Given the description of an element on the screen output the (x, y) to click on. 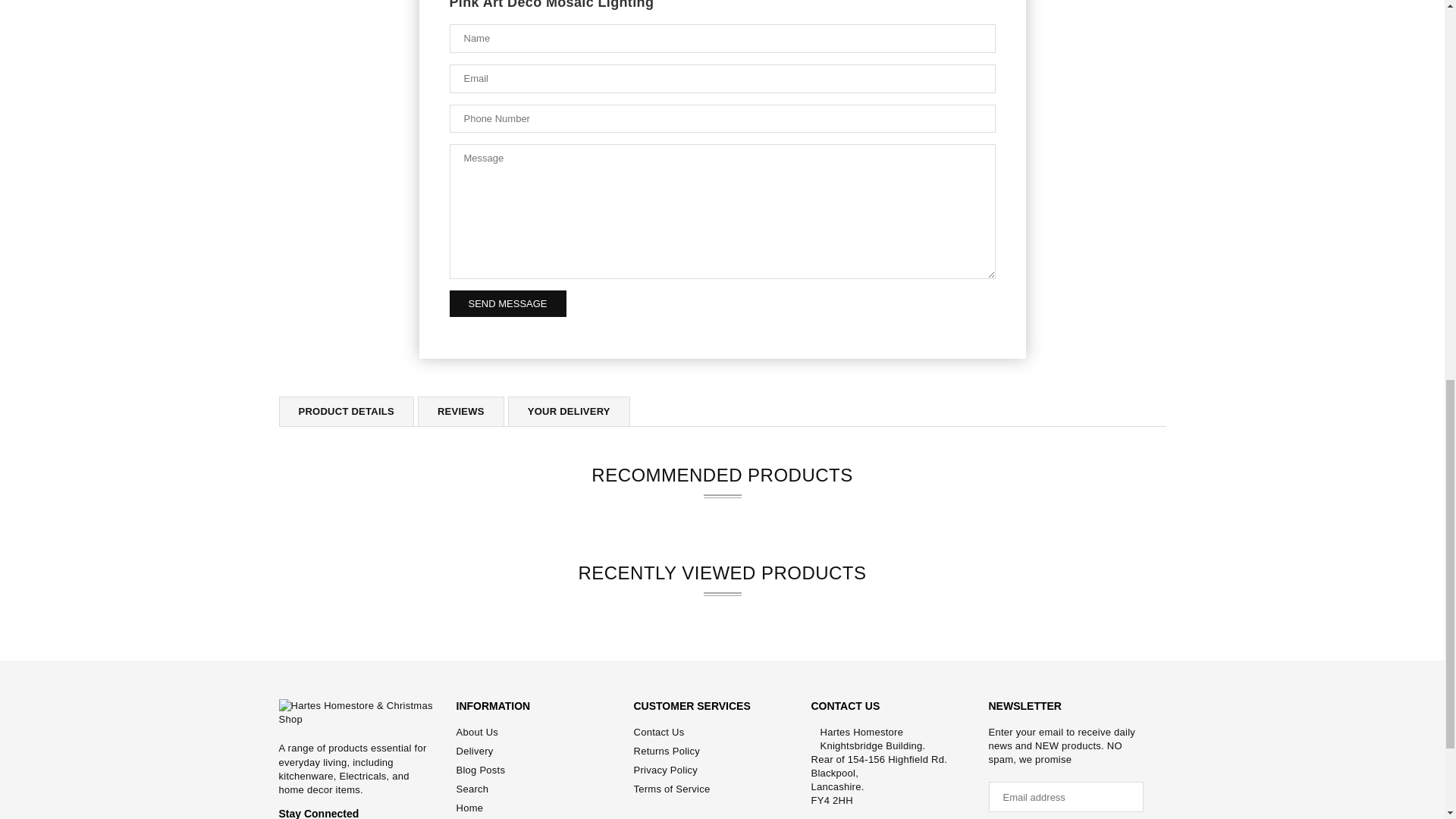
Send Message (507, 303)
